Given the description of an element on the screen output the (x, y) to click on. 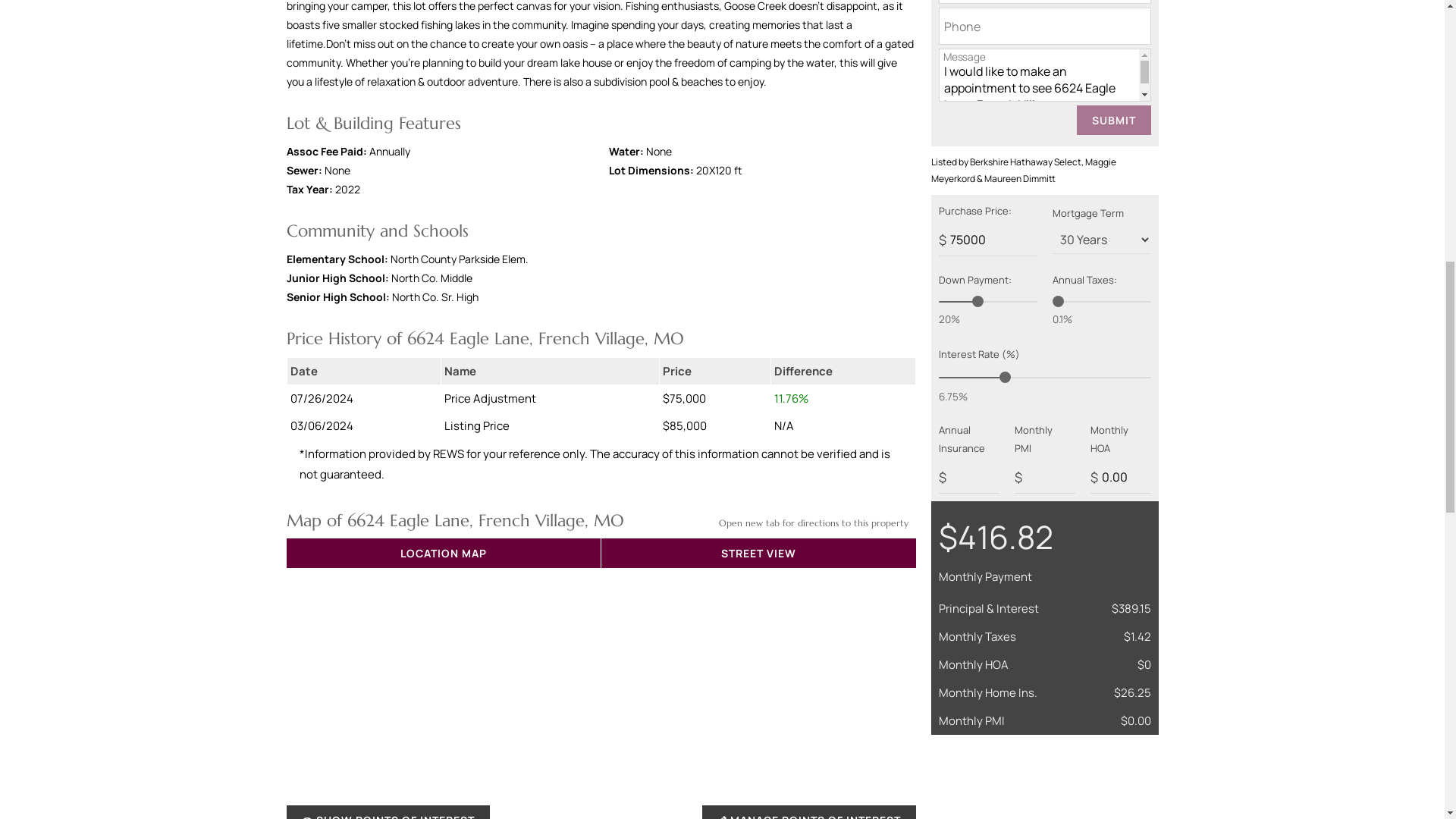
0.00 (1120, 477)
75000 (987, 239)
